Given the description of an element on the screen output the (x, y) to click on. 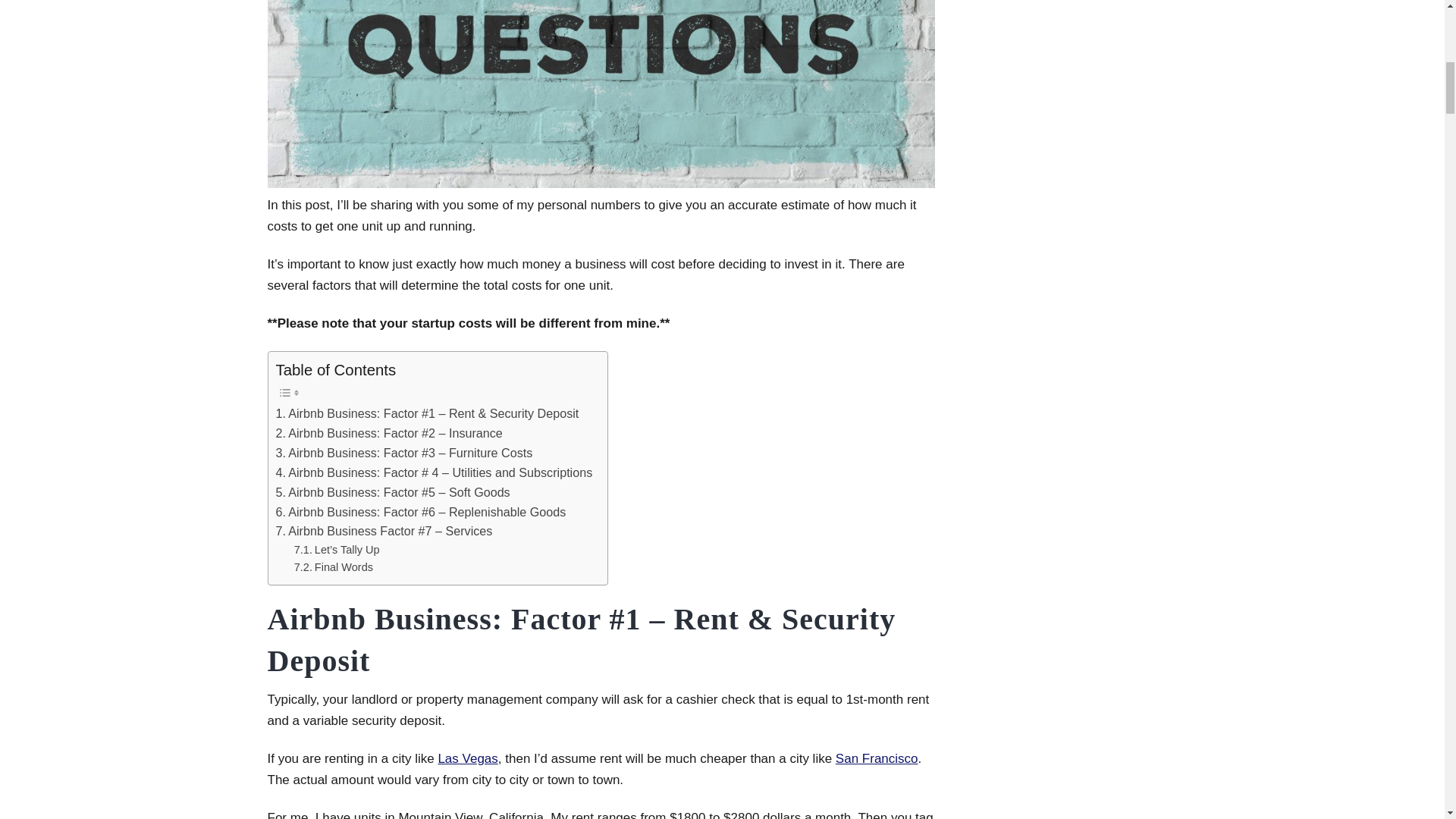
San Francisco (876, 758)
Final Words (333, 567)
Final Words (333, 567)
Las Vegas (467, 758)
